Given the description of an element on the screen output the (x, y) to click on. 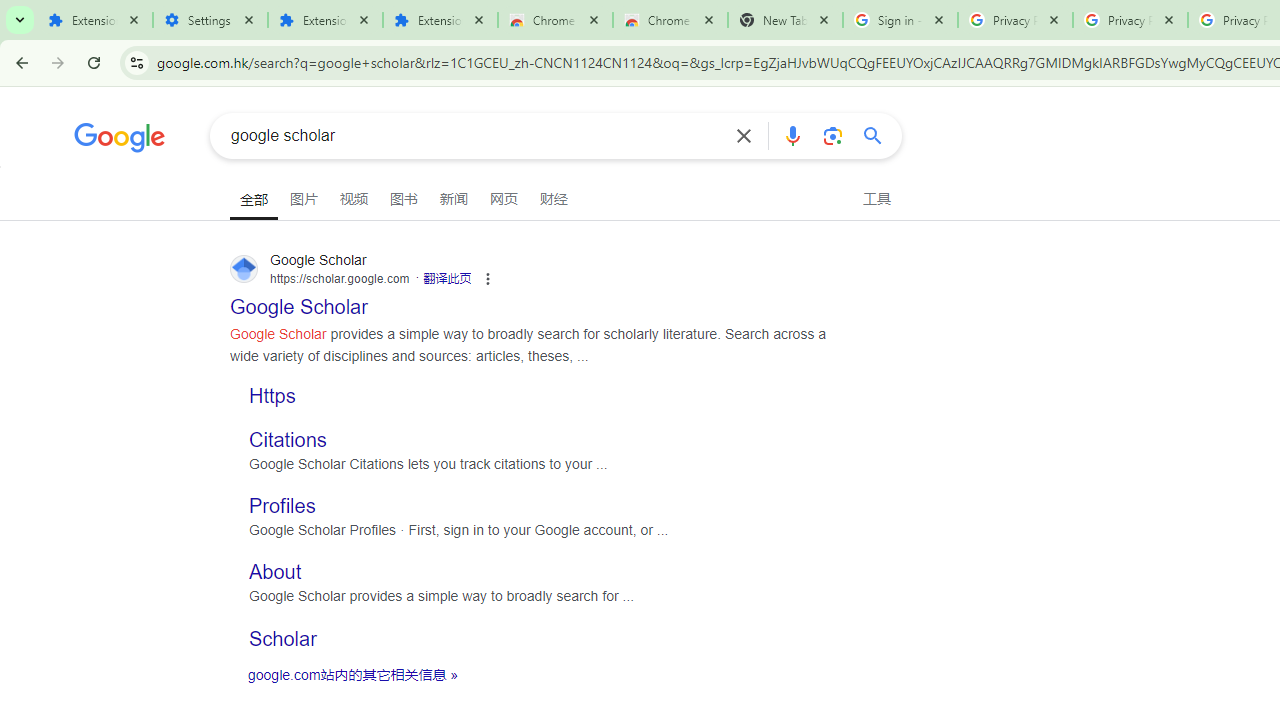
Extensions (324, 20)
New Tab (785, 20)
Extensions (95, 20)
Scholar (283, 638)
Extensions (439, 20)
